Given the description of an element on the screen output the (x, y) to click on. 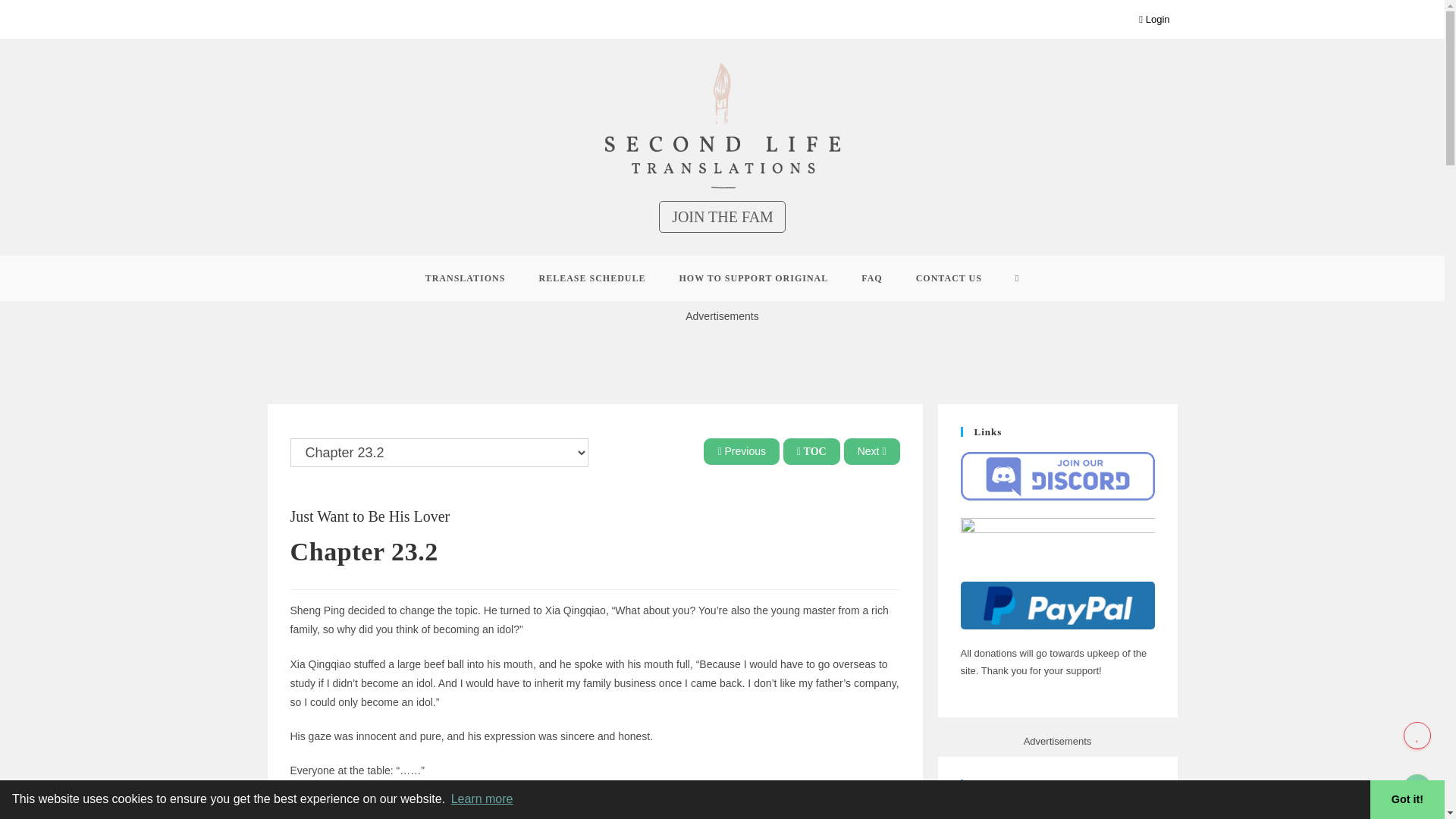
Previous (741, 451)
RELEASE SCHEDULE (591, 278)
CONTACT US (948, 278)
HOW TO SUPPORT ORIGINAL (753, 278)
TRANSLATIONS (465, 278)
Just Want to Be His Lover (369, 515)
Login (1153, 18)
FAQ (871, 278)
Next (871, 451)
Learn more (481, 798)
